Given the description of an element on the screen output the (x, y) to click on. 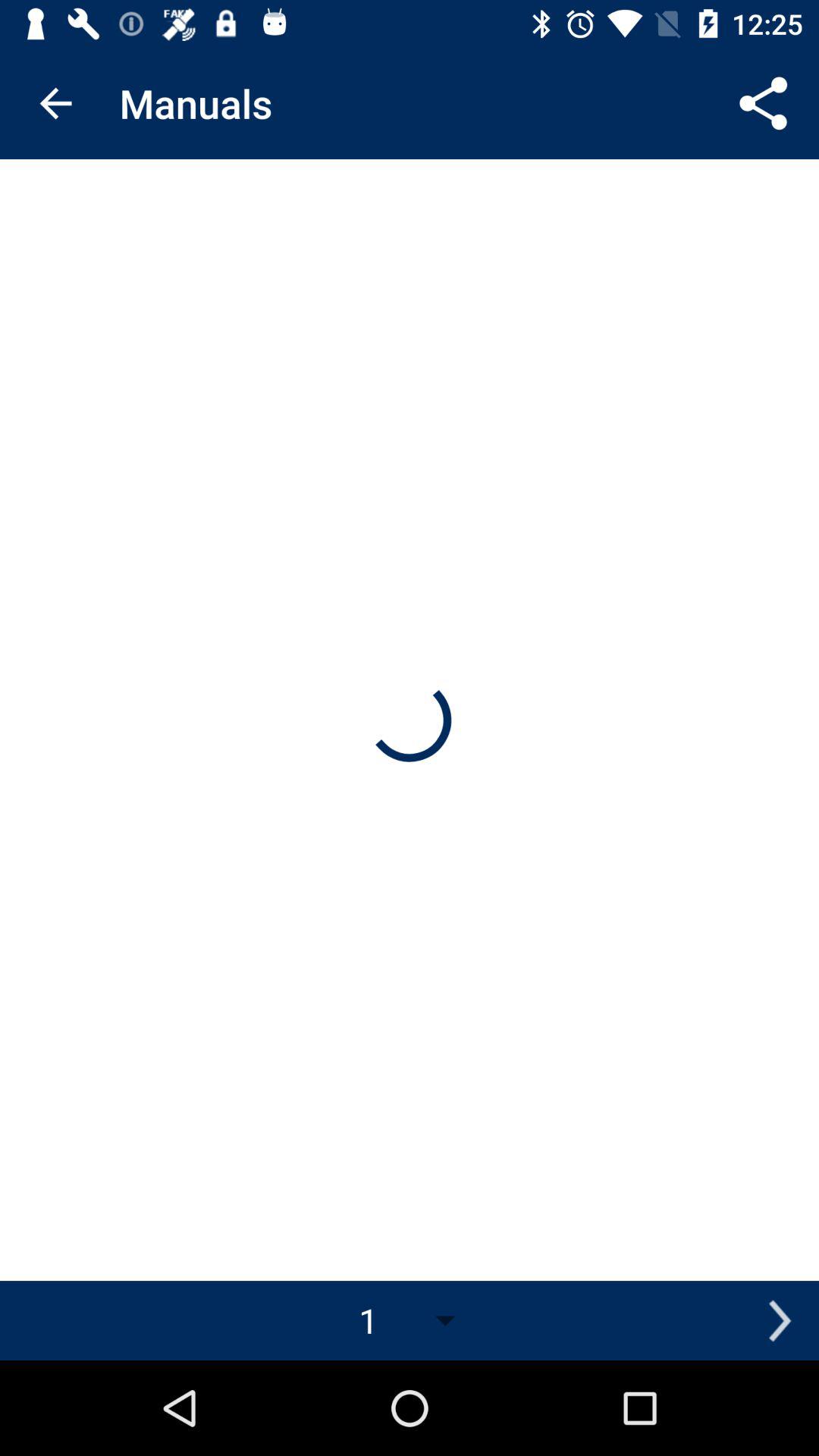
select the item at the bottom right corner (779, 1320)
